Given the description of an element on the screen output the (x, y) to click on. 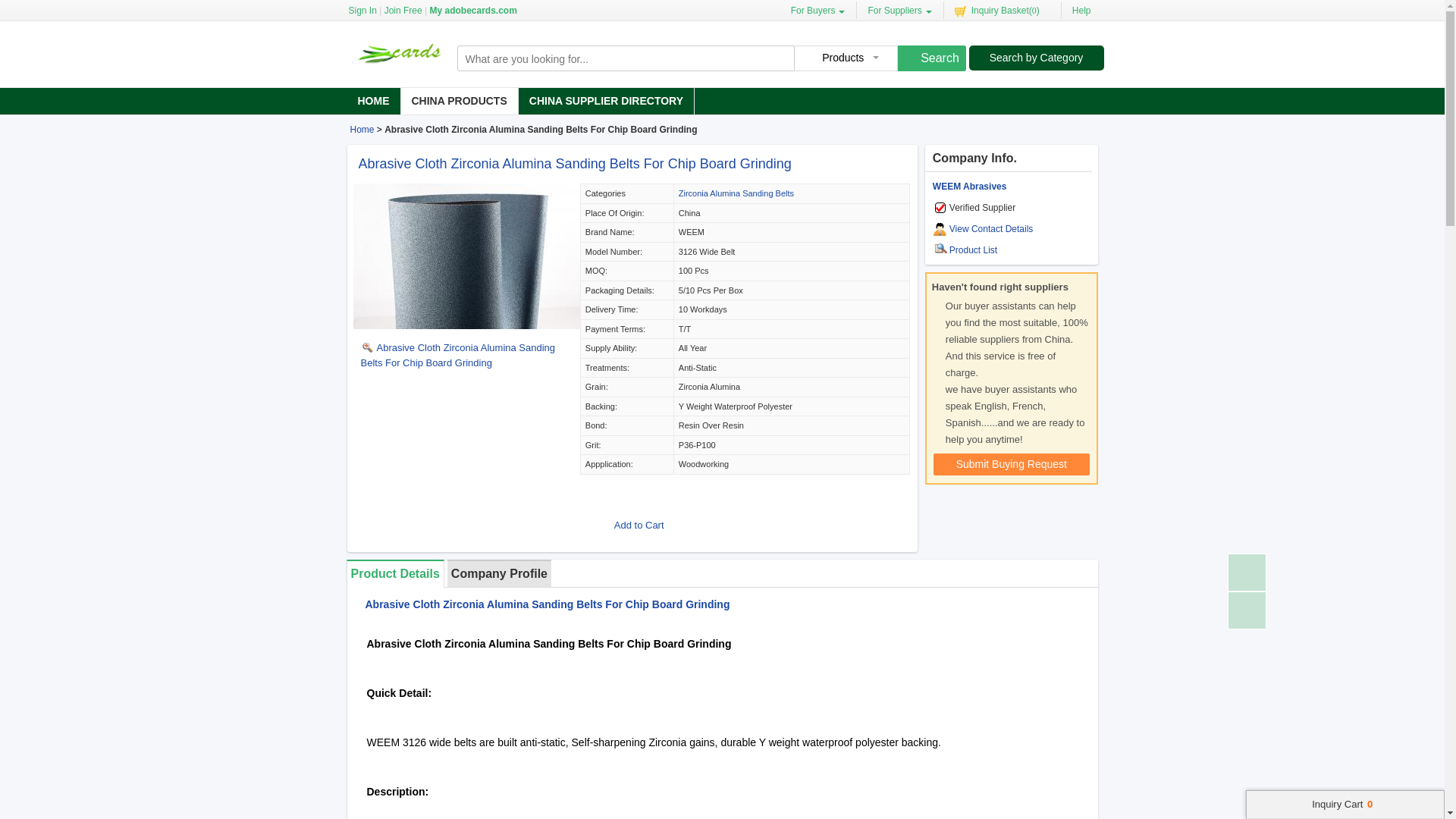
Help (1078, 9)
View Contact Details (991, 228)
Contact Now (651, 498)
Product List (973, 249)
HOME (373, 100)
Zirconia Alumina Sanding Belts (735, 193)
Search (932, 58)
Sign In (363, 11)
Search (932, 58)
CHINA SUPPLIER DIRECTORY (606, 100)
Home (362, 129)
WEEM Abrasives (970, 185)
